Given the description of an element on the screen output the (x, y) to click on. 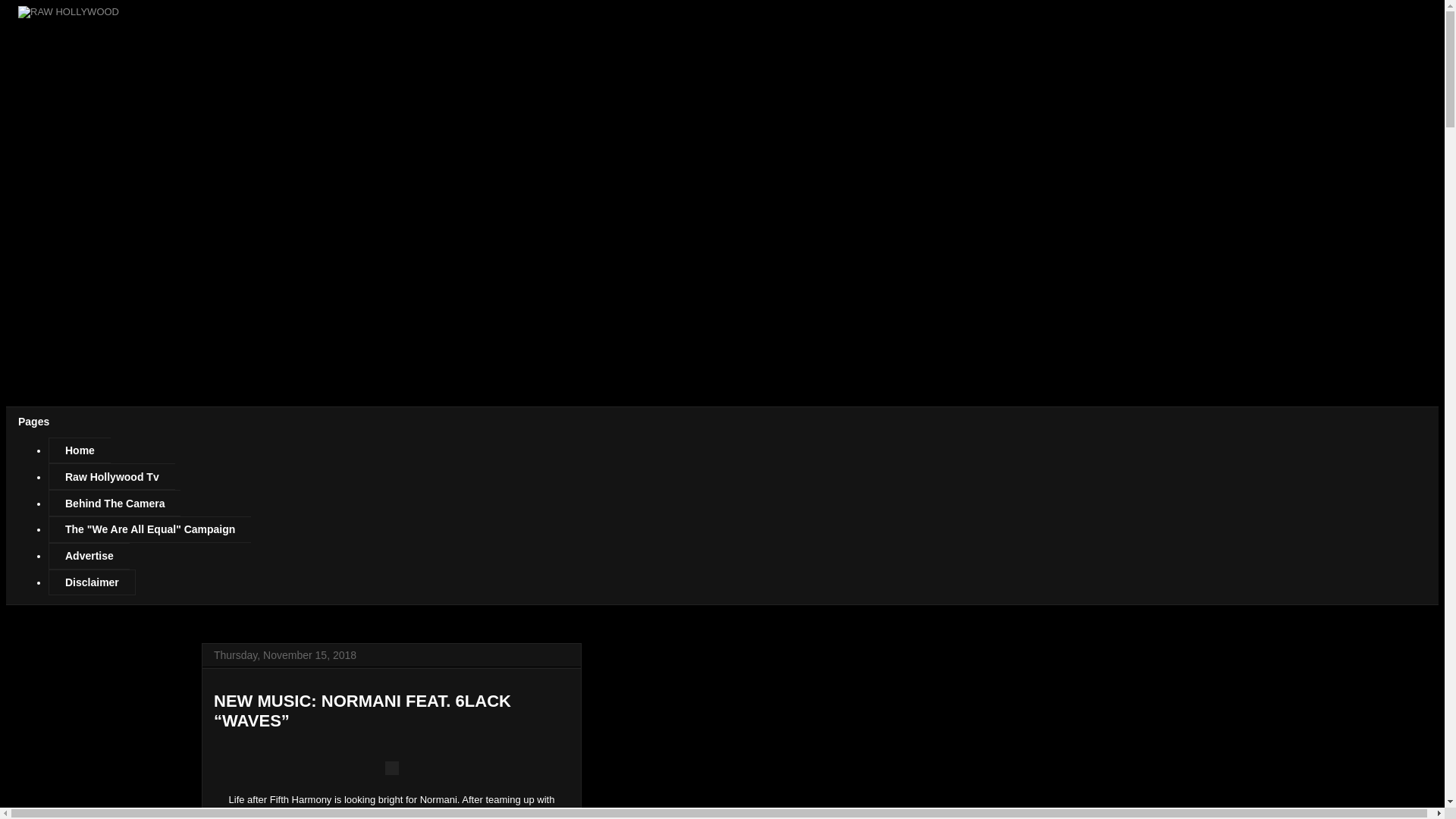
Home (79, 450)
Advertise (88, 555)
Behind The Camera (114, 502)
The "We Are All Equal" Campaign (149, 529)
Raw Hollywood Tv (111, 476)
Disclaimer (91, 582)
